Given the description of an element on the screen output the (x, y) to click on. 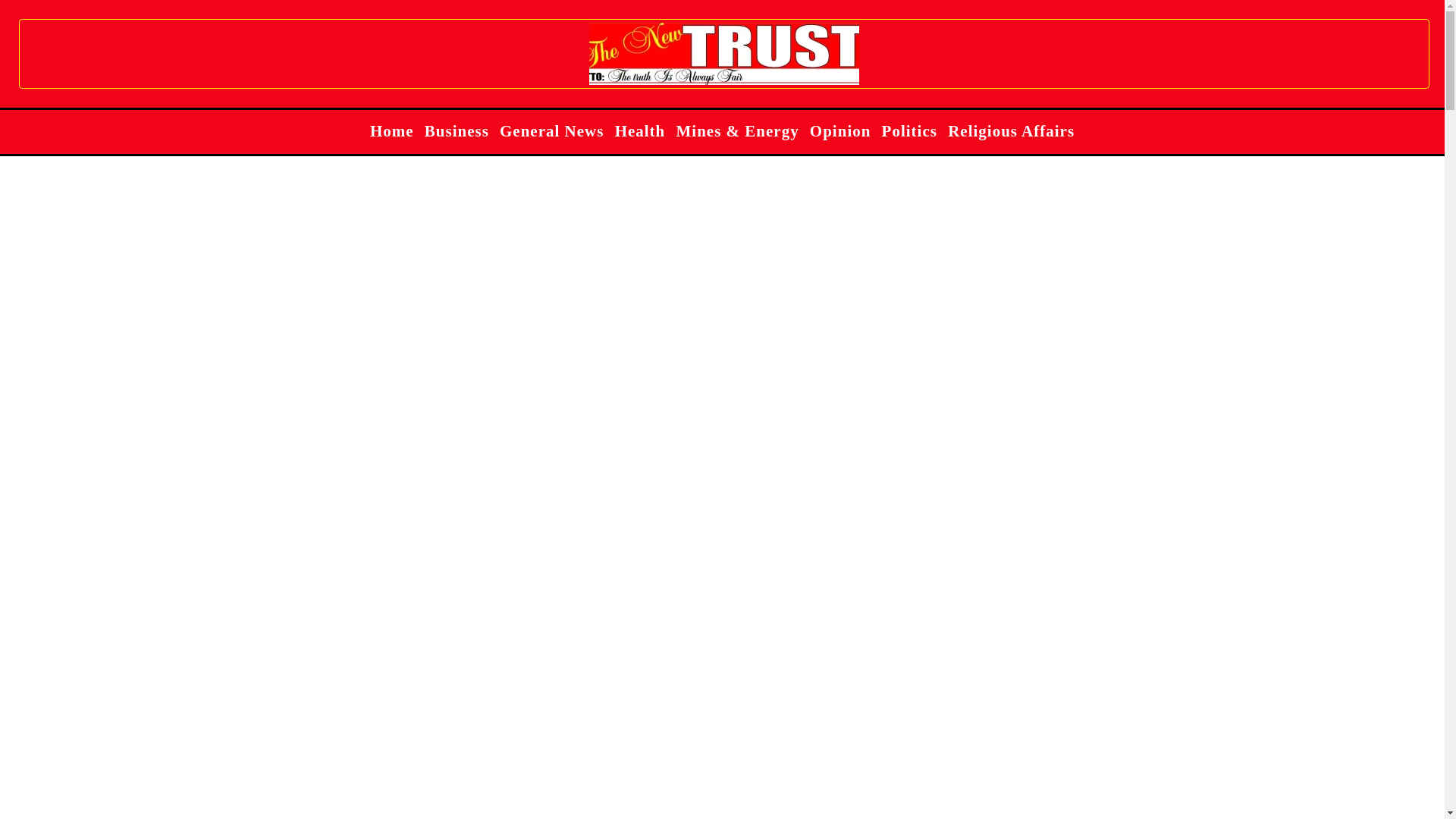
Advertisement (570, 285)
Opinion (845, 131)
Religious Affairs (1016, 131)
Health (645, 131)
Politics (915, 131)
TnT logo (724, 53)
General News (556, 131)
Home (397, 131)
Advertisement (570, 497)
Business (462, 131)
Advertisement (570, 709)
